Given the description of an element on the screen output the (x, y) to click on. 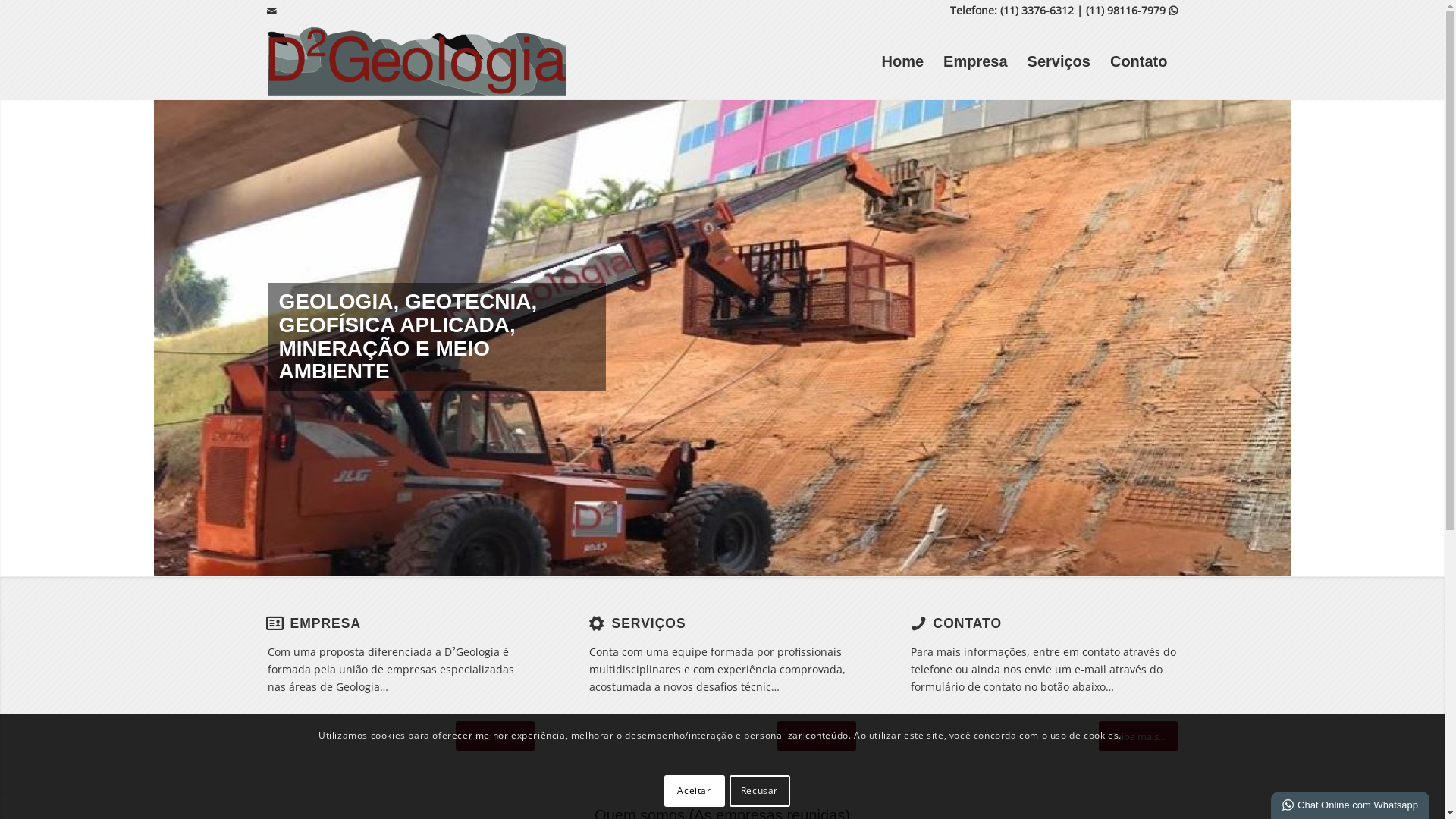
EMPRESA Element type: text (324, 622)
foto capa final Element type: hover (721, 337)
Home Element type: text (902, 61)
Mail Element type: hover (271, 11)
Empresa Element type: text (975, 61)
Recusar Element type: text (759, 790)
Contato Element type: text (1138, 61)
Saiba mais... Element type: text (1137, 736)
Saiba mais... Element type: text (815, 736)
CONTATO Element type: text (966, 622)
Aceitar Element type: text (694, 790)
Saiba mais... Element type: text (494, 736)
